Given the description of an element on the screen output the (x, y) to click on. 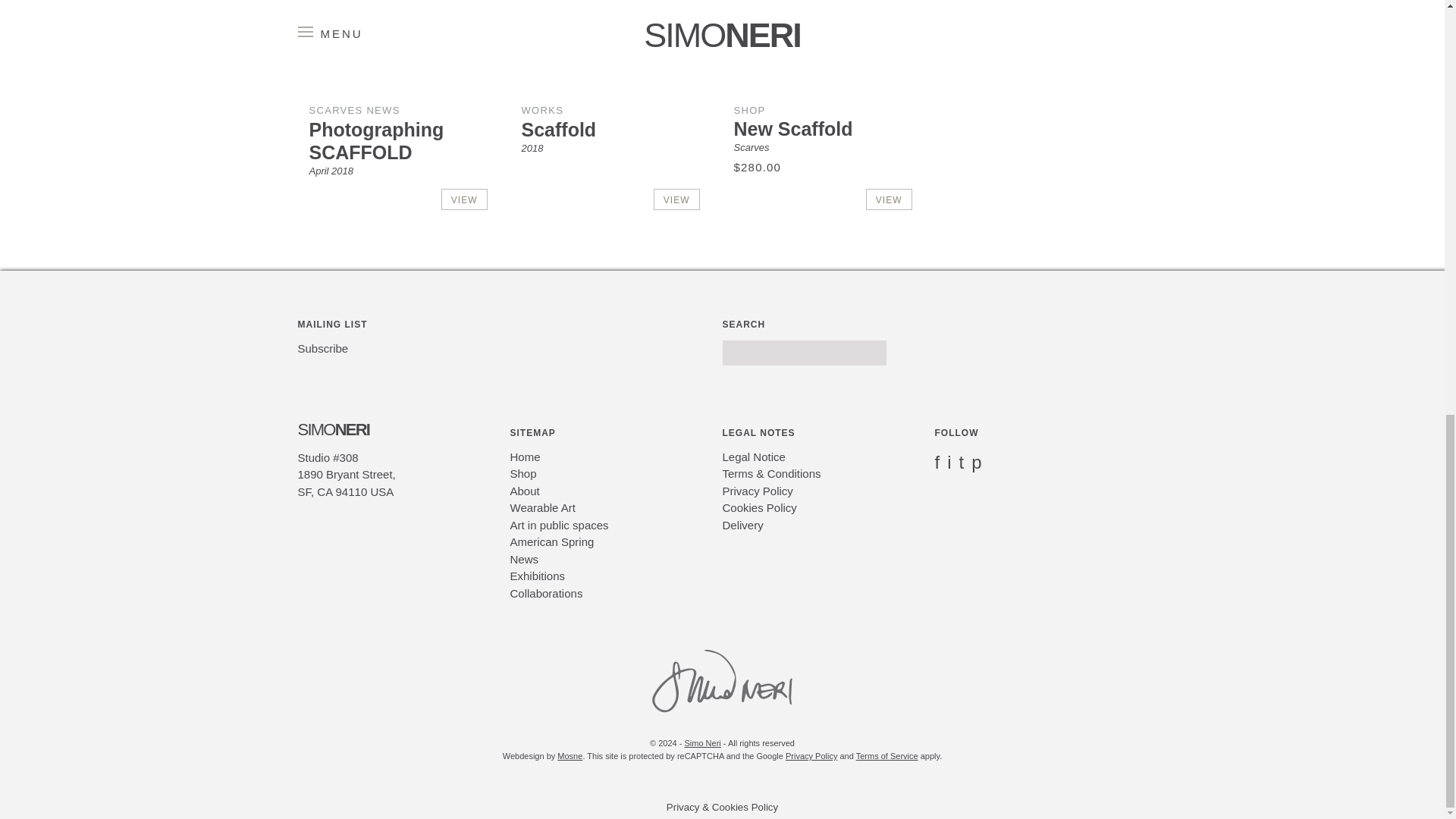
NEWS (382, 110)
Subscribe (322, 348)
American Spring (551, 541)
VIEW (889, 199)
About (523, 490)
VIEW (676, 199)
New Scaffold (793, 128)
Privacy Policy (757, 490)
Photographing SCAFFOLD (376, 140)
Scarves (751, 147)
